Given the description of an element on the screen output the (x, y) to click on. 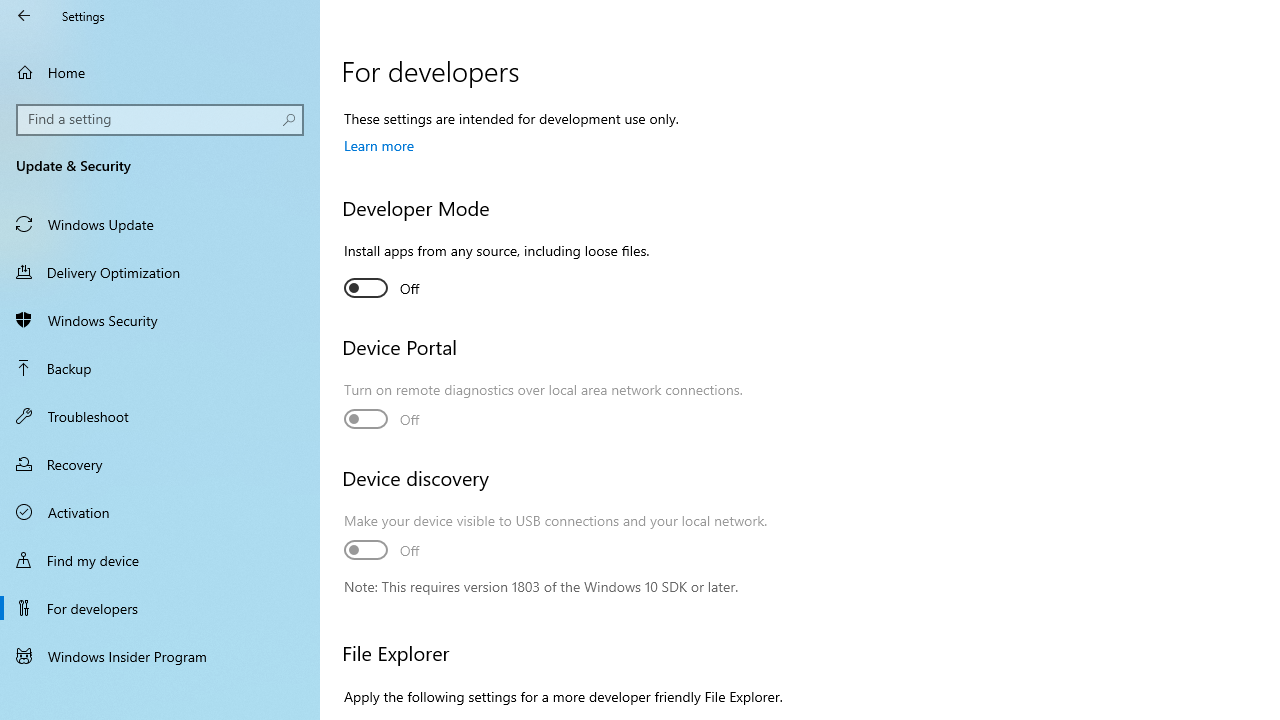
Backup (160, 367)
Search box, Find a setting (160, 119)
Delivery Optimization (160, 271)
SystemSettings_Developer_Mode_Advanced_NarratorText (381, 287)
Find my device (160, 559)
For developers (160, 607)
Windows Insider Program (160, 655)
Windows Security (160, 319)
Activation (160, 511)
Recovery (160, 463)
Learn more (379, 145)
